Given the description of an element on the screen output the (x, y) to click on. 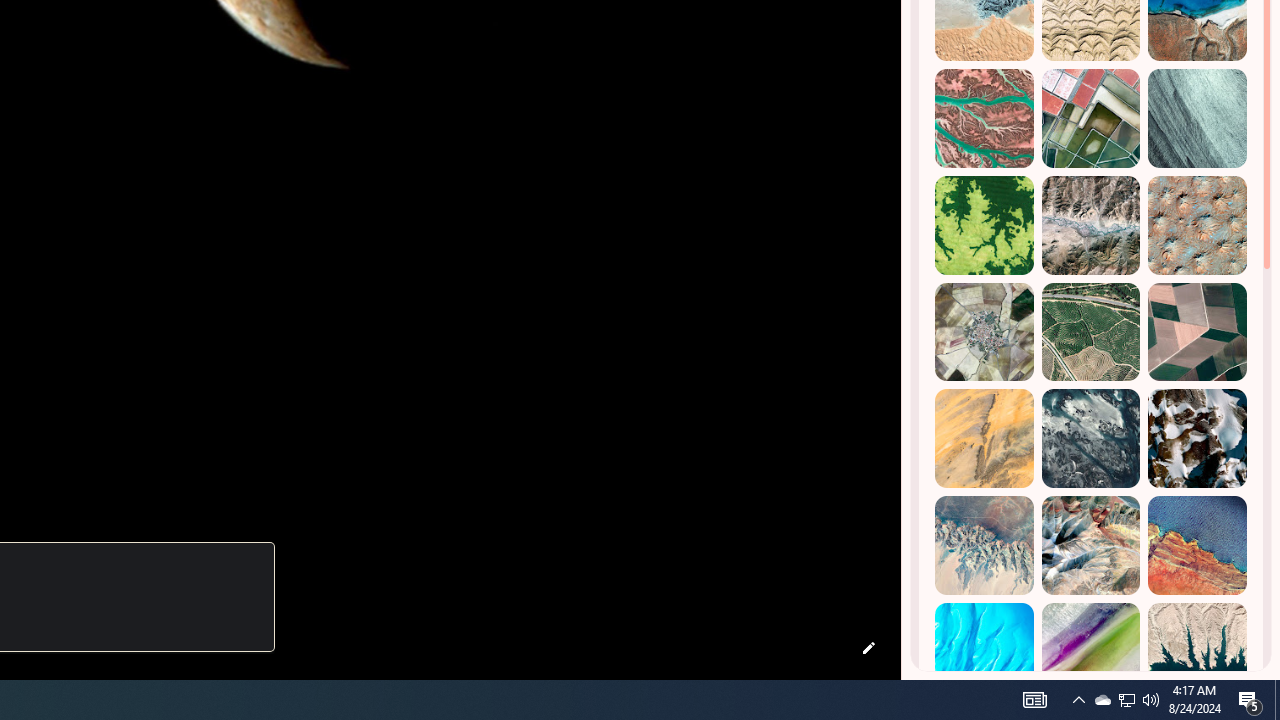
Antarctica (1197, 438)
Isla Cristina, Spain (1090, 332)
Rikaze, China (1090, 225)
Libya (1197, 545)
Side Panel Resize Handle (905, 39)
Customize this page (868, 647)
Hainan, China (1197, 651)
Granville, France (1090, 438)
Ngari, China (1090, 545)
Ouargla, Algeria (1197, 225)
Qesm Al Wahat Ad Dakhlah, Egypt (984, 545)
Atar, Mauritania (984, 438)
Davis County, United States (1090, 651)
